Given the description of an element on the screen output the (x, y) to click on. 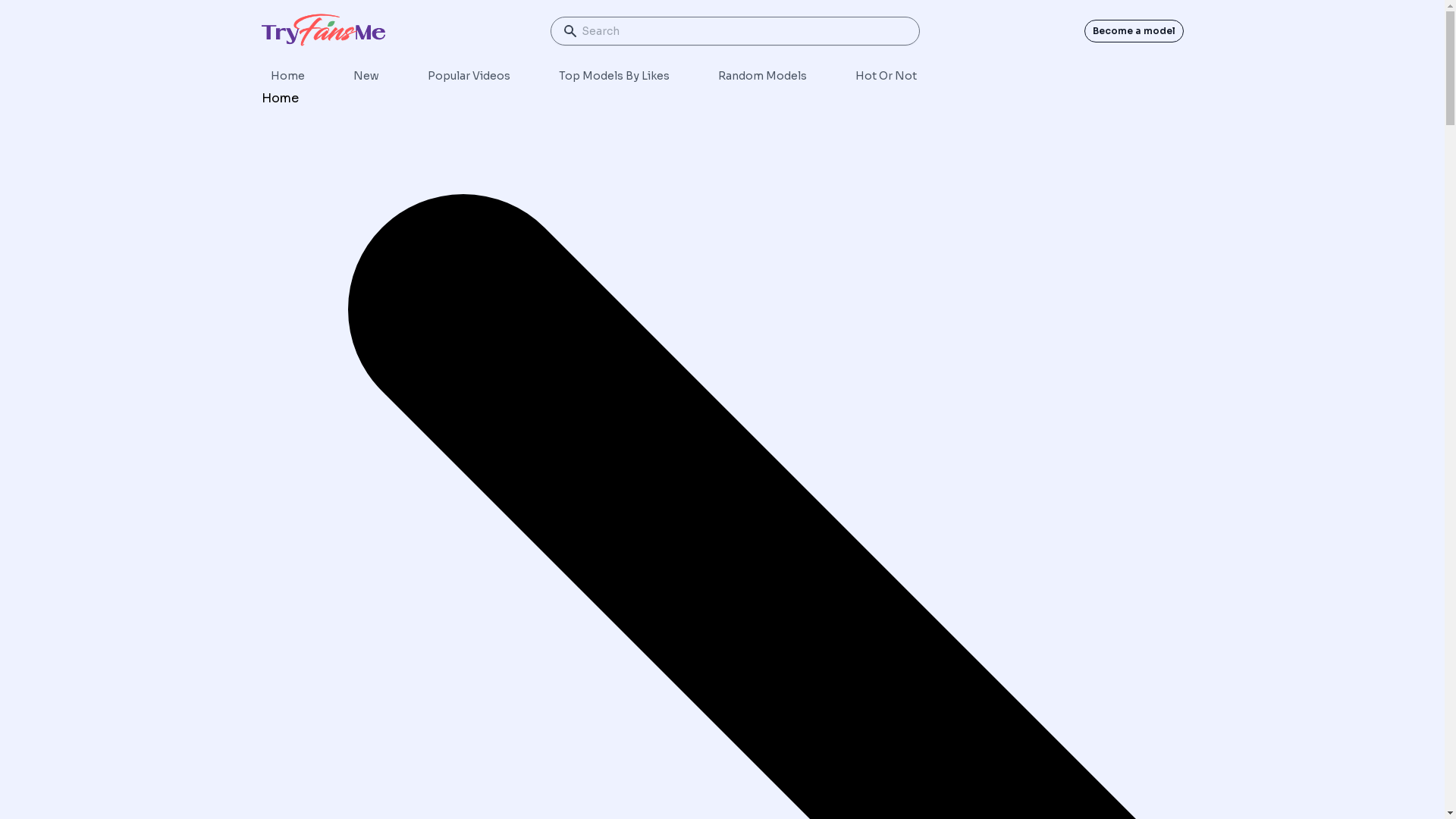
Top Models By Likes (613, 75)
New (365, 75)
Popular Videos (469, 75)
Hot Or Not (885, 75)
Home (279, 98)
Home (286, 75)
Become a model (1133, 30)
Random Models (761, 75)
